Given the description of an element on the screen output the (x, y) to click on. 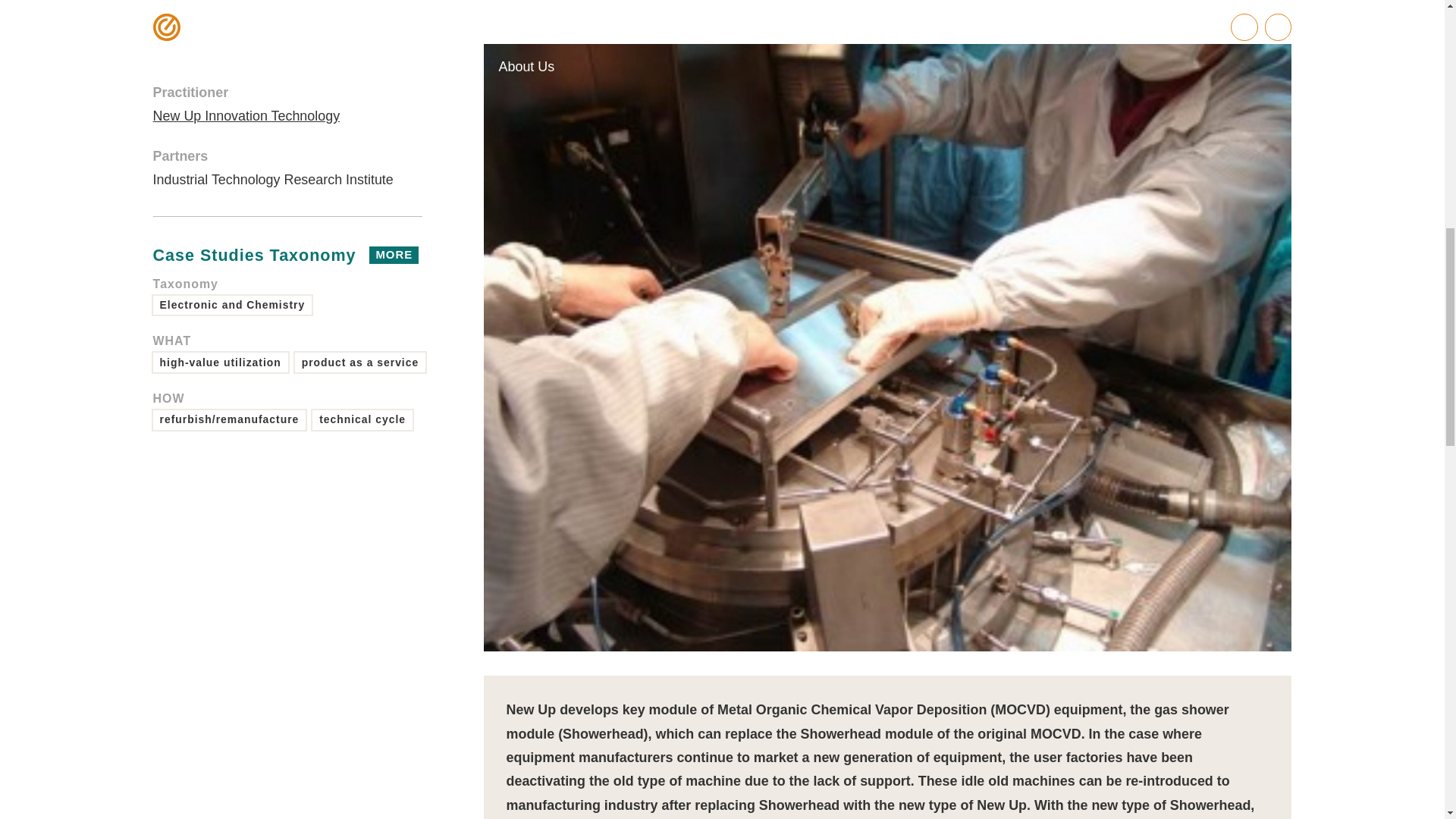
Electronic and Chemistry (232, 268)
New Up Innovation Technology (246, 78)
high-value utilization (220, 324)
technical cycle (287, 218)
product as a service (362, 383)
